Given the description of an element on the screen output the (x, y) to click on. 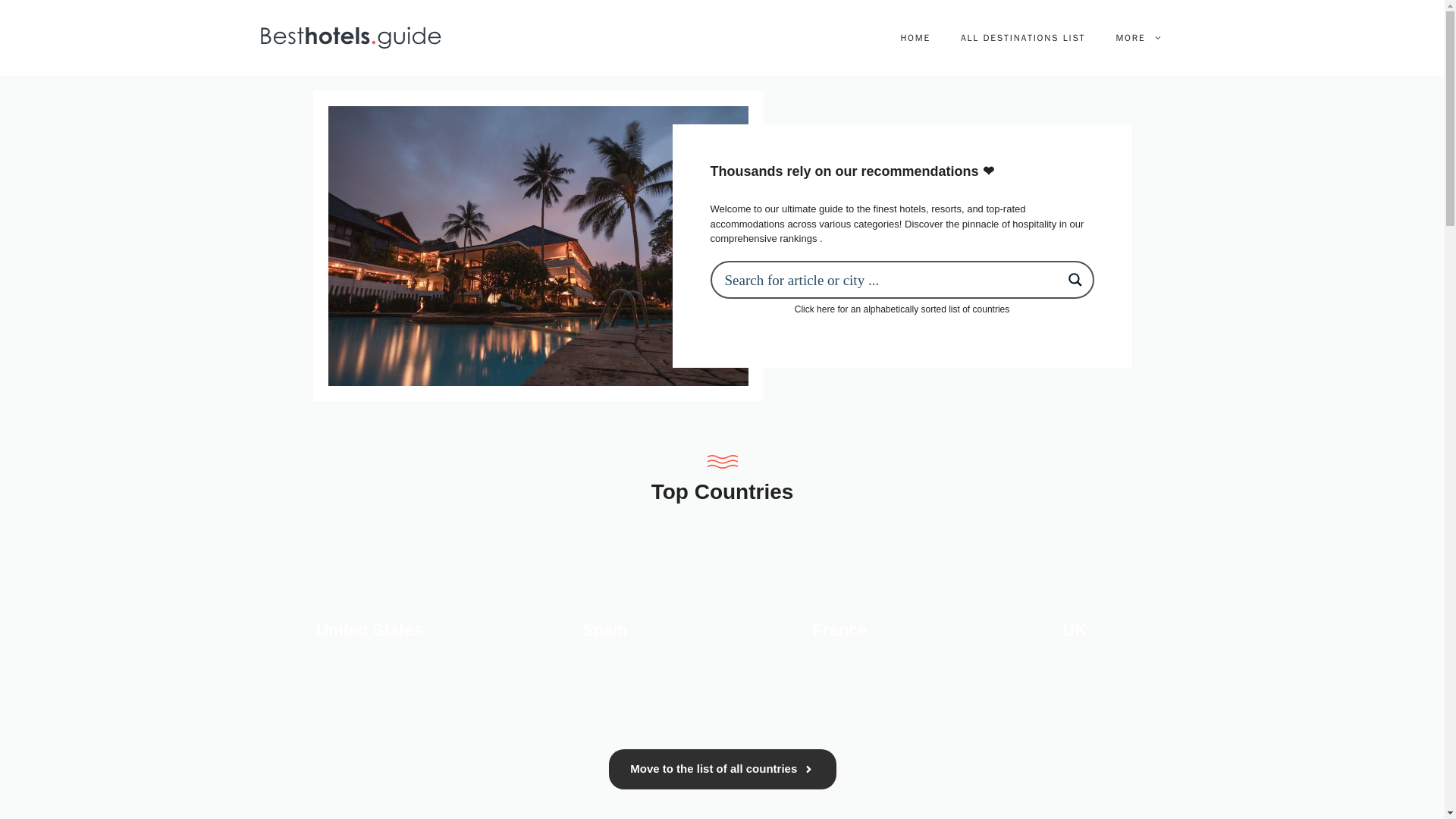
MORE (1138, 37)
HOME (914, 37)
ALL DESTINATIONS LIST (1022, 37)
